Given the description of an element on the screen output the (x, y) to click on. 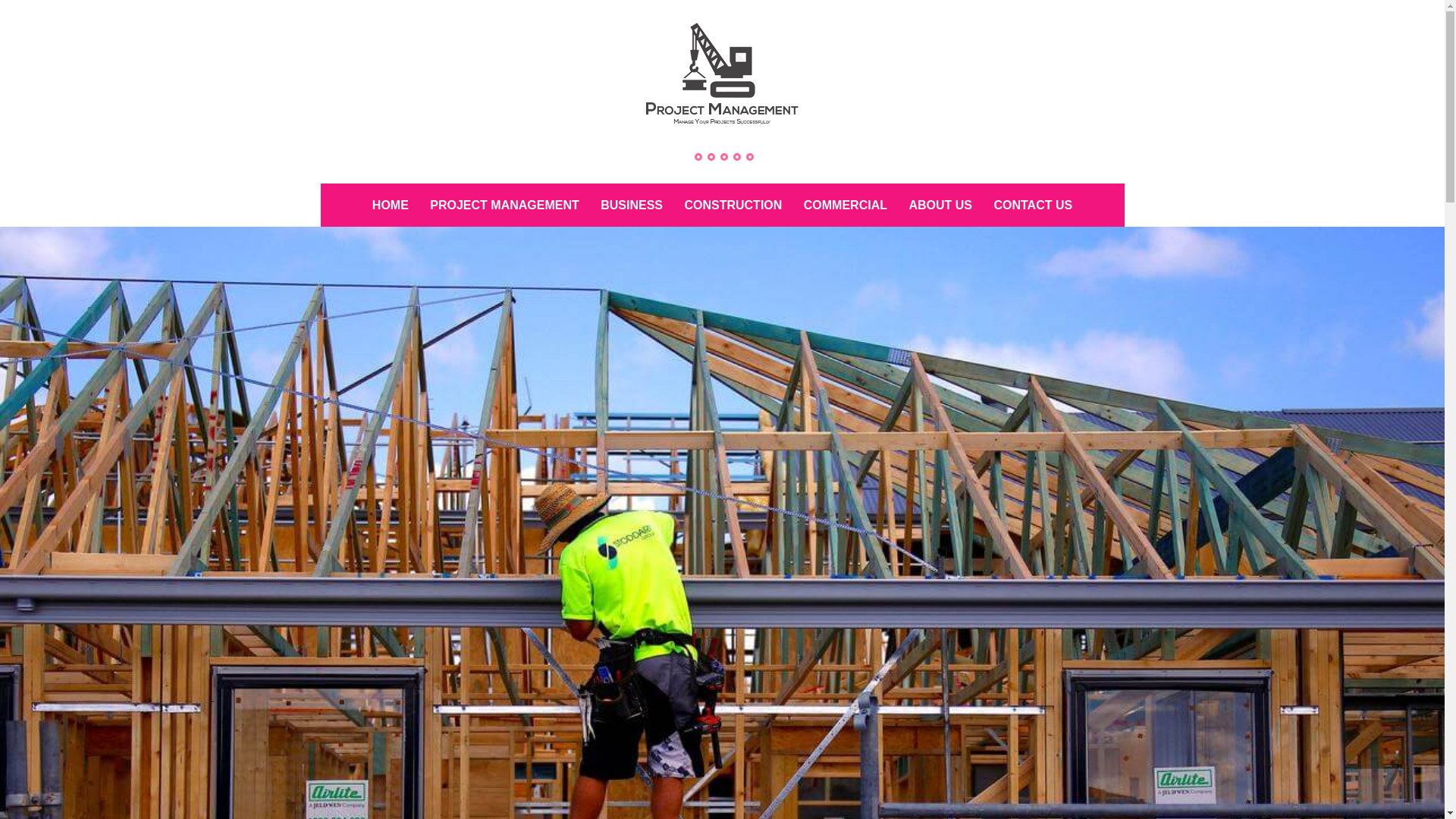
About Us Element type: text (711, 156)
Privacy Policy Element type: text (736, 156)
Search Element type: text (44, 18)
ABOUT US Element type: text (940, 205)
BUSINESS Element type: text (631, 205)
Terms of Use Element type: text (749, 156)
COMMERCIAL Element type: text (845, 205)
PROJECT MANAGEMENT Element type: text (503, 205)
CONTACT US Element type: text (1032, 205)
Skip to content Element type: text (320, 182)
Contact Us Element type: text (724, 156)
Home Element type: text (698, 156)
HOME Element type: text (390, 205)
PROJECT MANAGEMENT Element type: text (457, 160)
CONSTRUCTION Element type: text (732, 205)
